Given the description of an element on the screen output the (x, y) to click on. 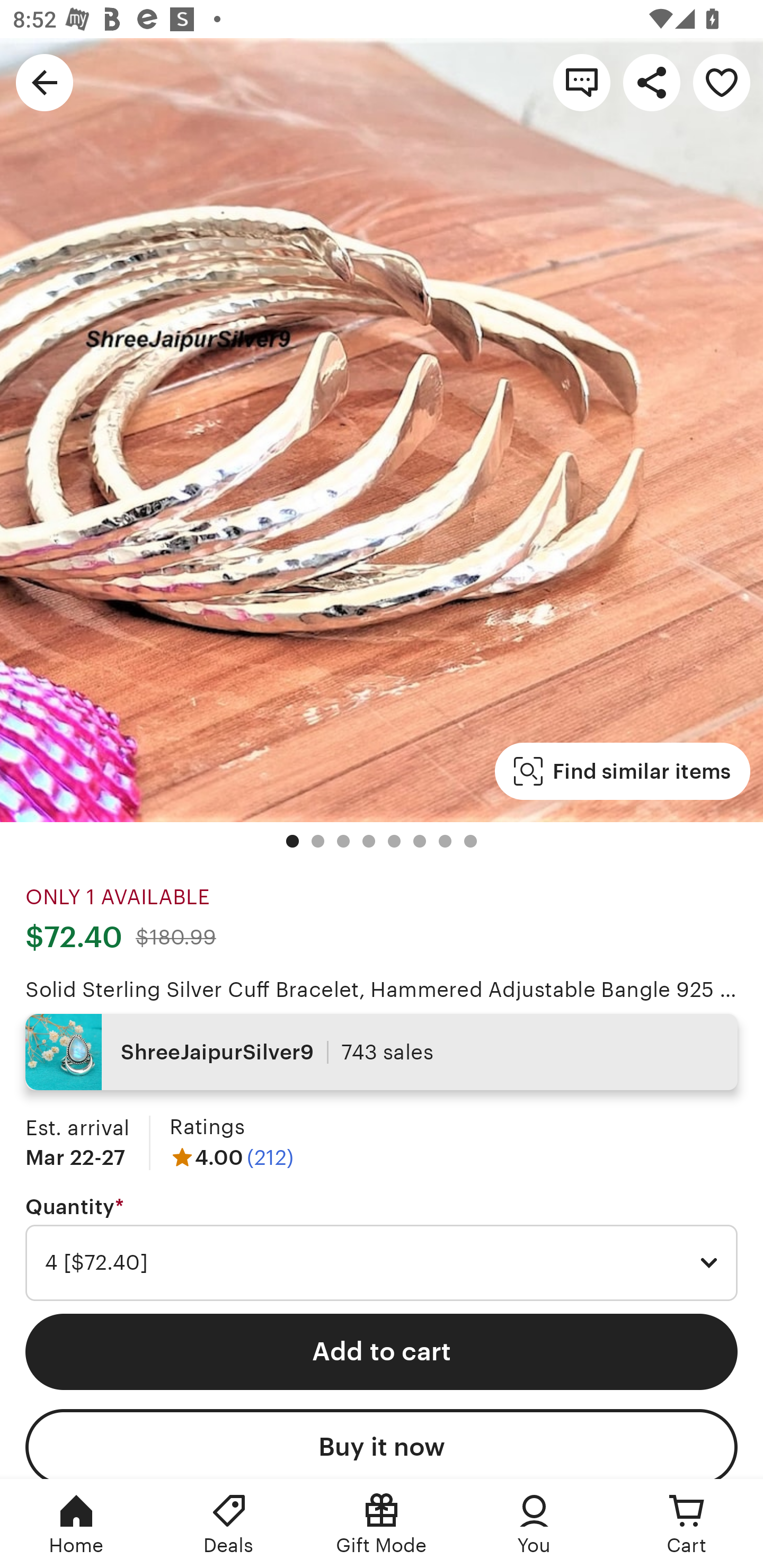
Navigate up (44, 81)
Contact shop (581, 81)
Share (651, 81)
Find similar items (622, 771)
ShreeJaipurSilver9 743 sales (381, 1051)
Ratings (206, 1126)
4.00 (212) (231, 1156)
Quantity * Required 4 [$72.40] (381, 1247)
4 [$72.40] (381, 1262)
Add to cart (381, 1351)
Buy it now (381, 1443)
Deals (228, 1523)
Gift Mode (381, 1523)
You (533, 1523)
Cart (686, 1523)
